Given the description of an element on the screen output the (x, y) to click on. 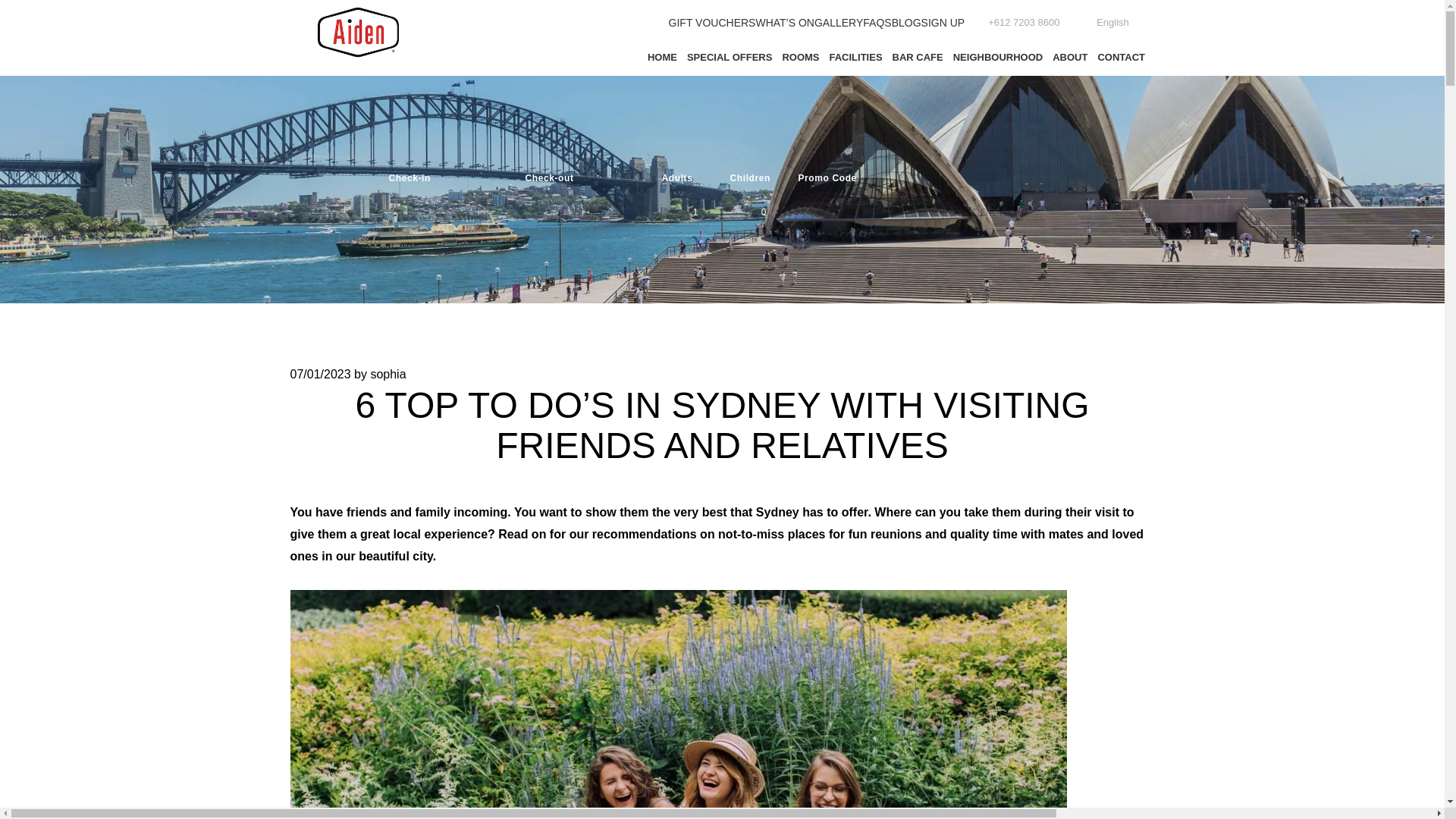
FACILITIES (855, 57)
ROOMS (800, 57)
FAQS (877, 22)
Book Now (990, 212)
HOME (661, 57)
NEIGHBOURHOOD (996, 57)
GALLERY (838, 22)
GIFT VOUCHERS (711, 22)
SIGN UP (943, 22)
BLOG (906, 22)
